Given the description of an element on the screen output the (x, y) to click on. 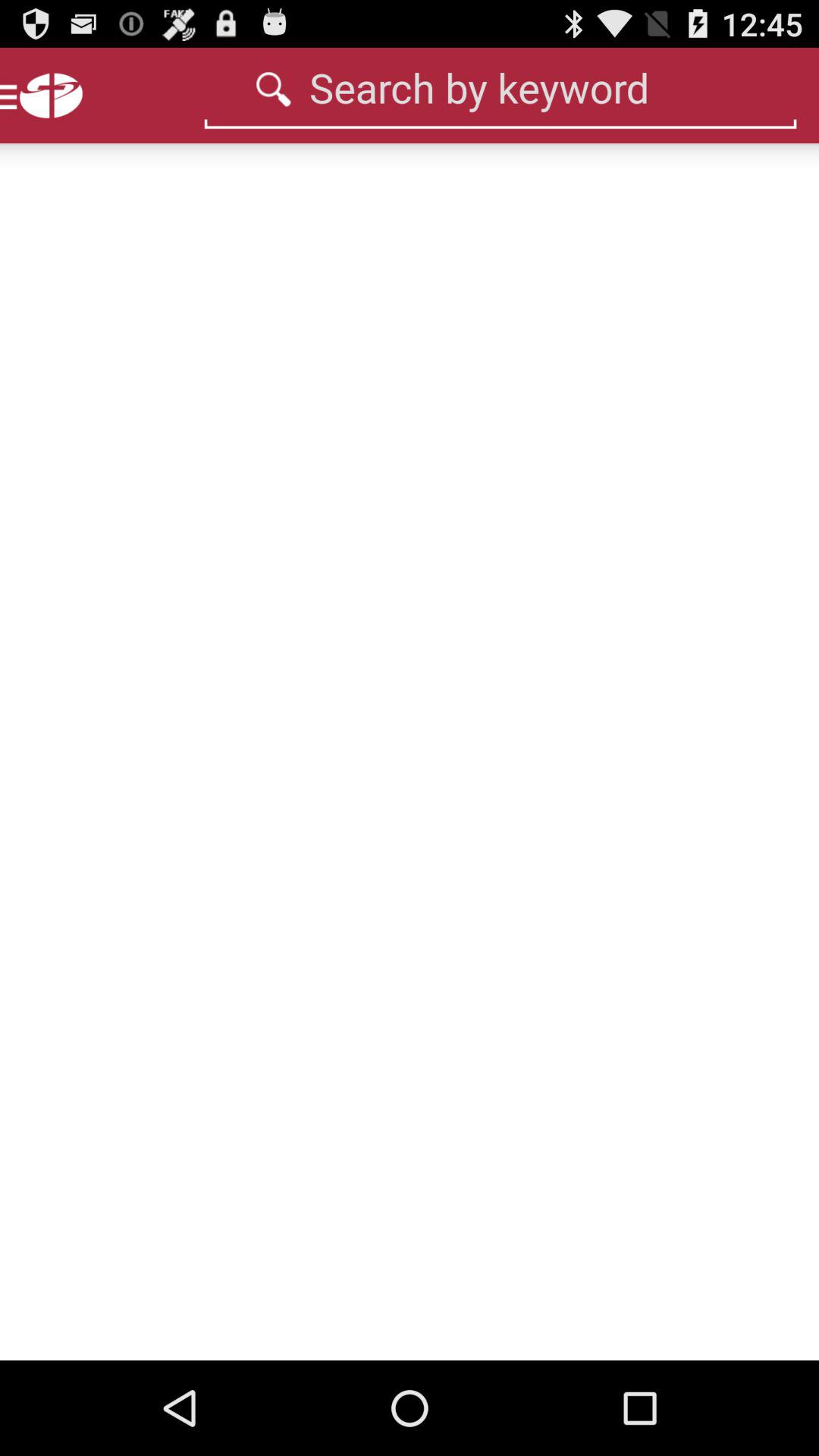
enter keyword to search (500, 87)
